Given the description of an element on the screen output the (x, y) to click on. 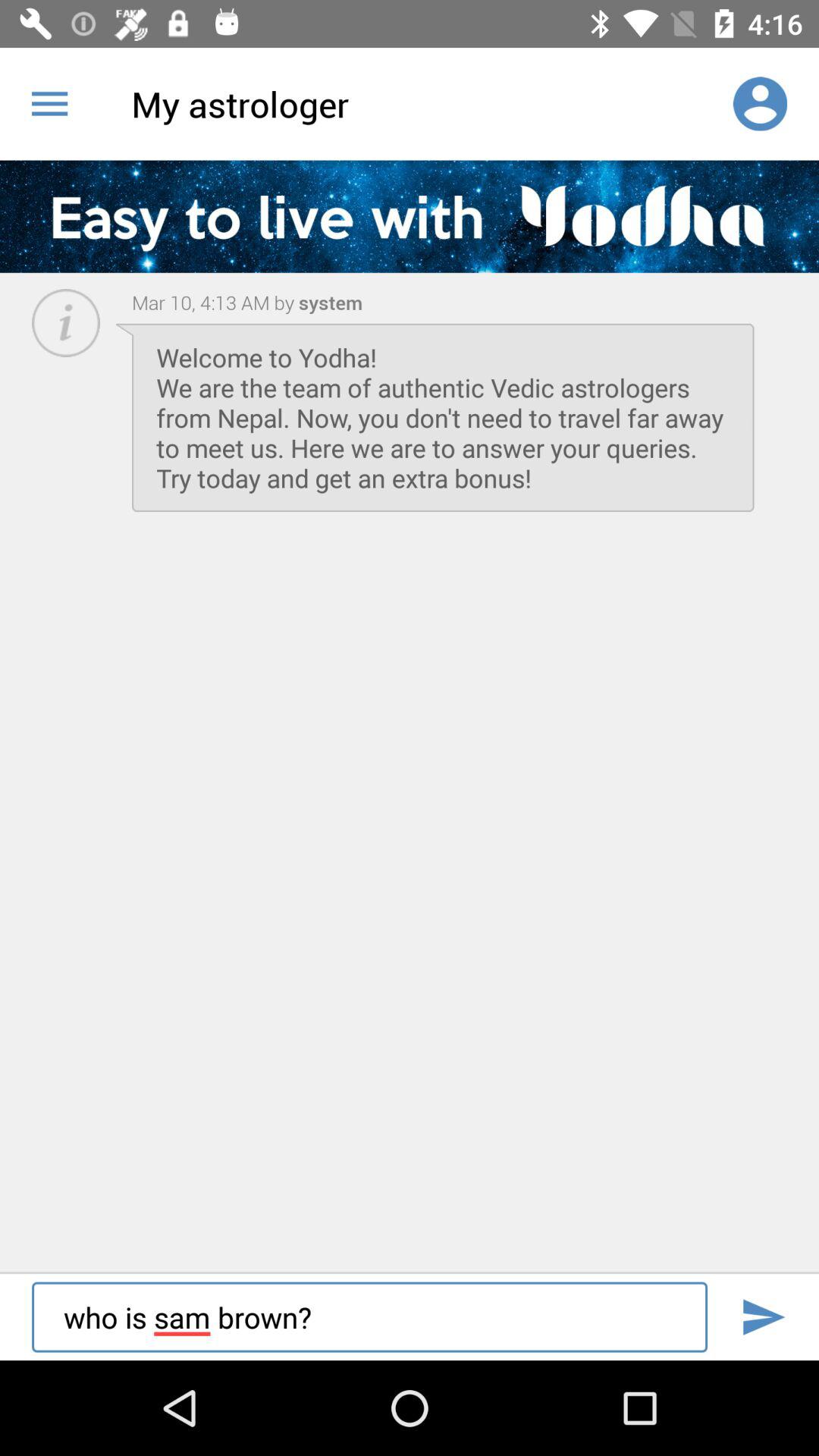
choose icon at the bottom right corner (763, 1317)
